Given the description of an element on the screen output the (x, y) to click on. 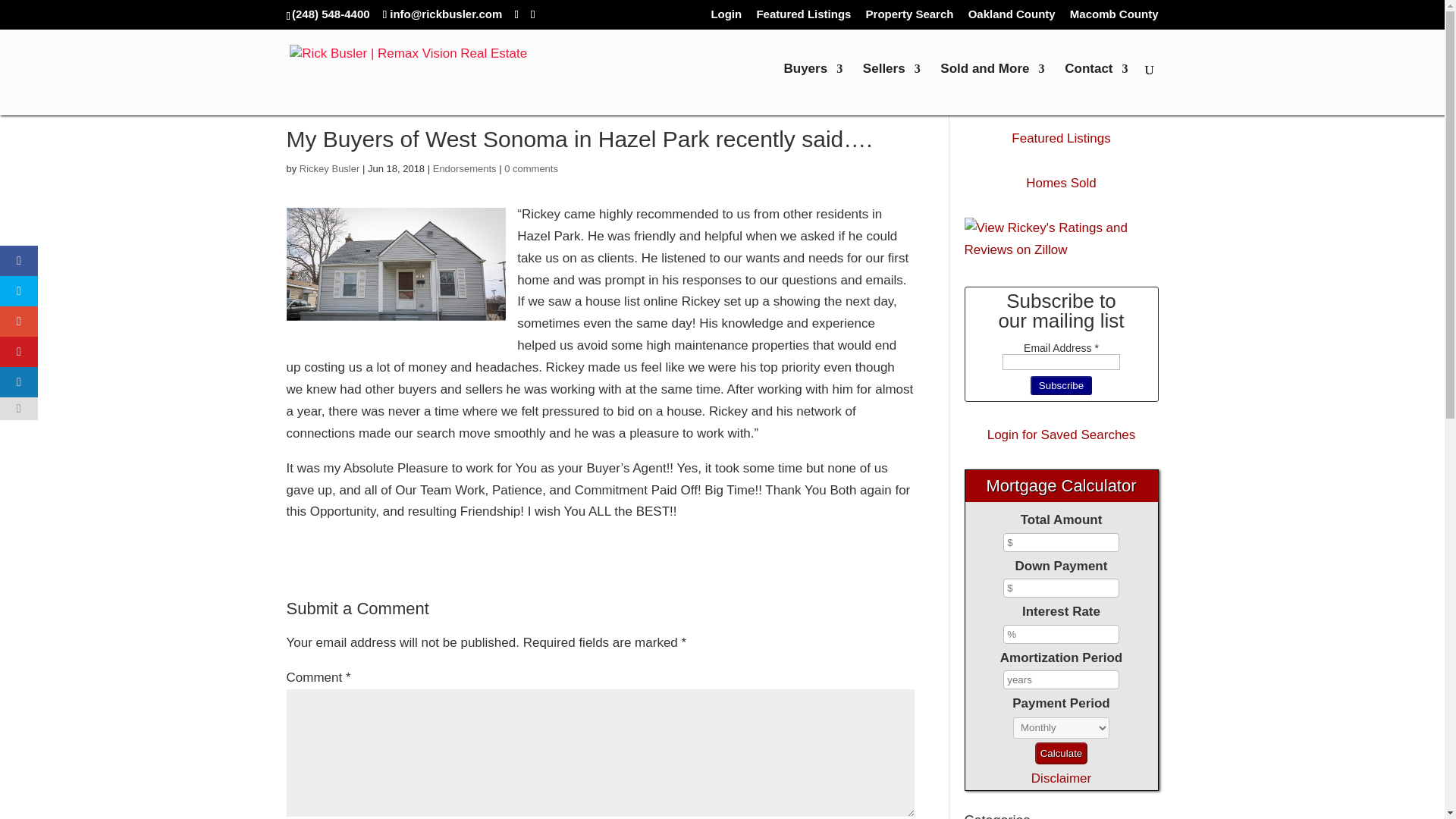
Property Search (909, 17)
Endorsements (464, 168)
Subscribe (1061, 384)
Homes Sold (1061, 182)
Featured Listings (802, 17)
Featured Listings (1060, 137)
Posts by Rickey Busler (329, 168)
Rickey Busler (329, 168)
Buyers (813, 89)
Oakland County (1011, 17)
0 comments (530, 168)
5 Star Agent on Zillow (1060, 240)
Subscribe (1061, 384)
Login (725, 17)
Calculate (1061, 753)
